Given the description of an element on the screen output the (x, y) to click on. 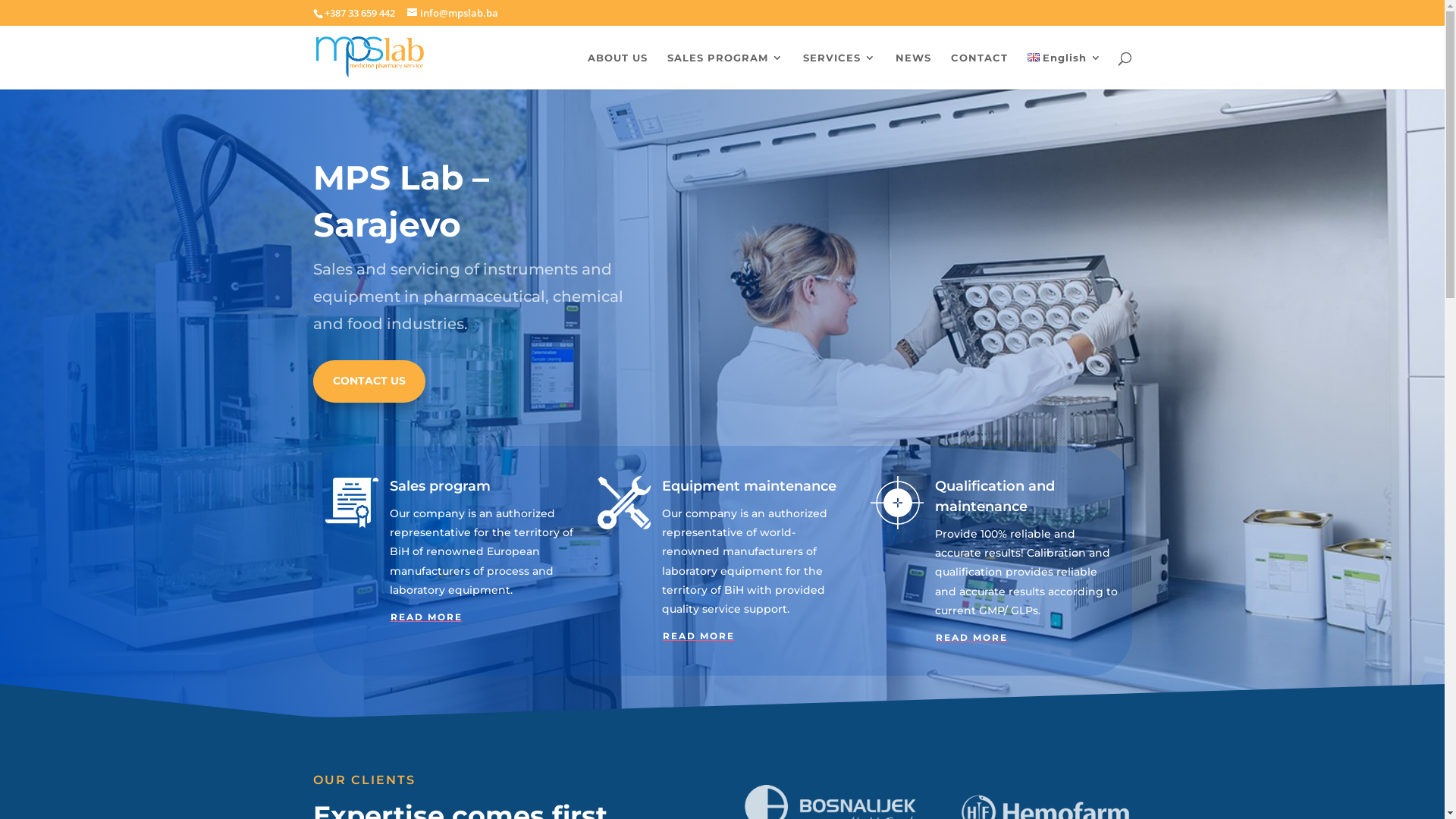
SALES PROGRAM Element type: text (725, 69)
info@mpslab.ba Element type: text (451, 12)
CONTACT Element type: text (978, 69)
READ MORE Element type: text (971, 637)
ABOUT US Element type: text (617, 69)
READ MORE Element type: text (698, 635)
CONTACT US Element type: text (368, 381)
English Element type: hover (1033, 57)
English Element type: text (1064, 69)
READ MORE Element type: text (425, 616)
SERVICES Element type: text (839, 69)
NEWS Element type: text (913, 69)
